Given the description of an element on the screen output the (x, y) to click on. 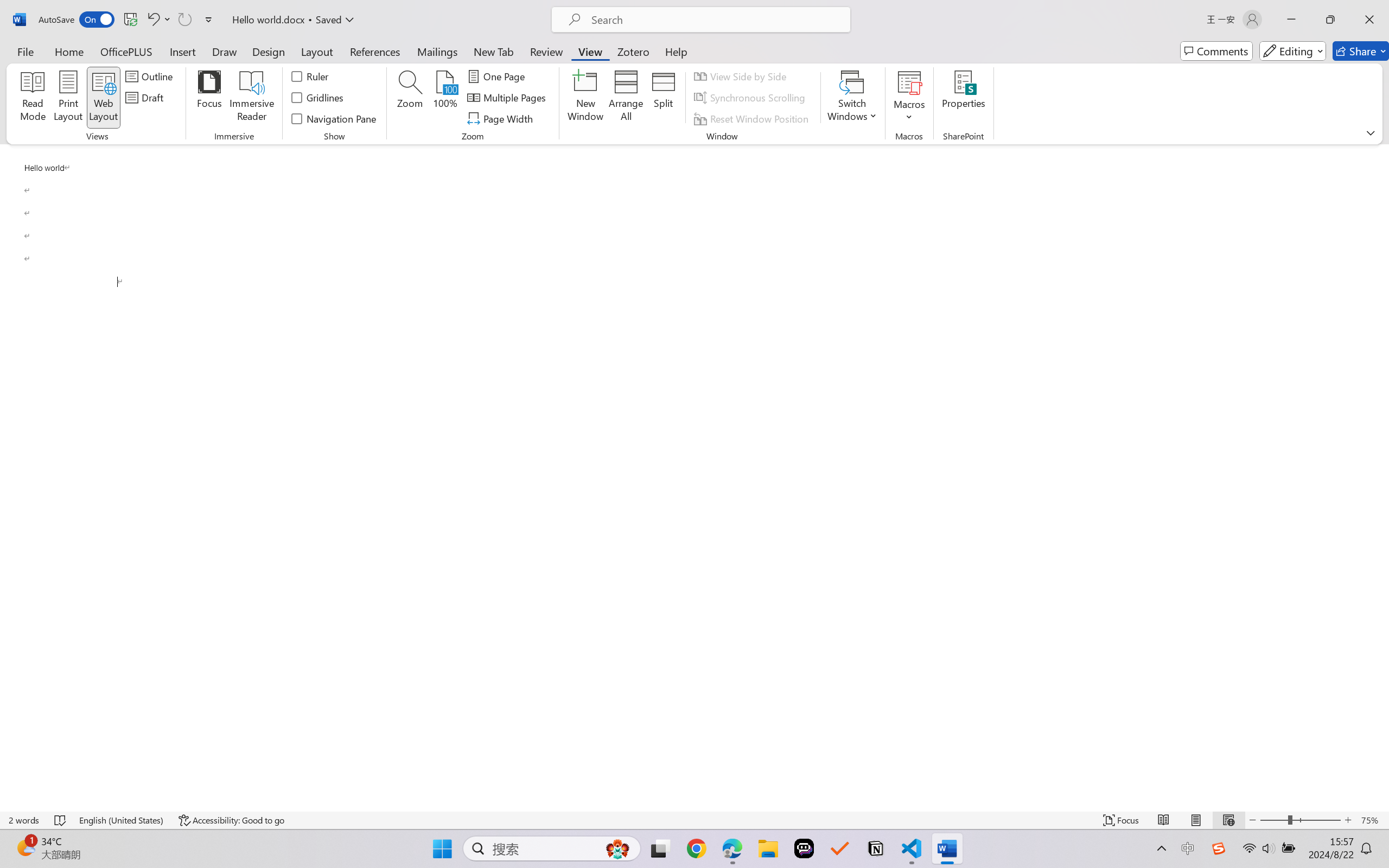
Save (130, 19)
